Given the description of an element on the screen output the (x, y) to click on. 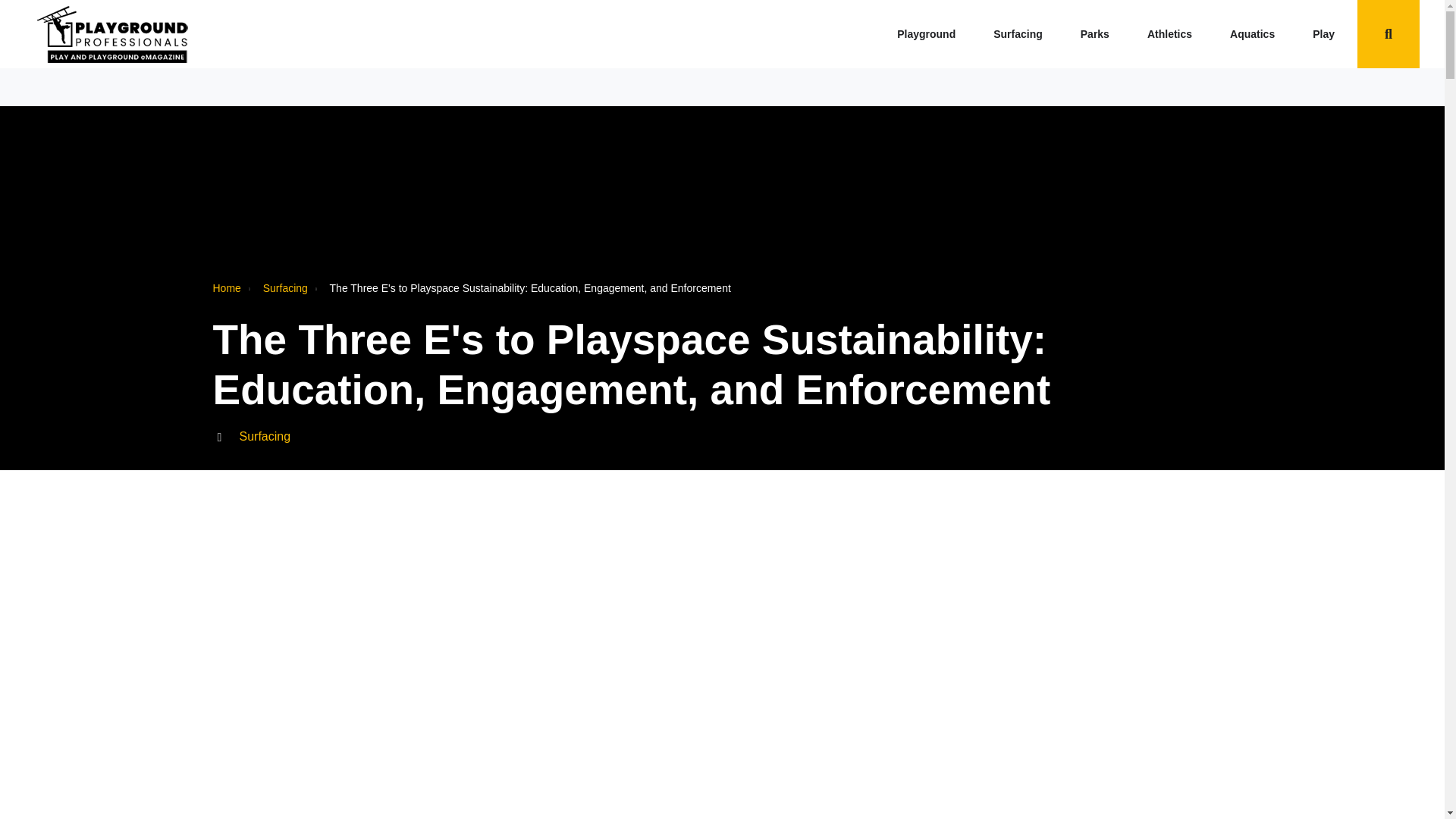
Home (112, 32)
Surfacing (1021, 33)
Playground News and Professionals (930, 33)
